Given the description of an element on the screen output the (x, y) to click on. 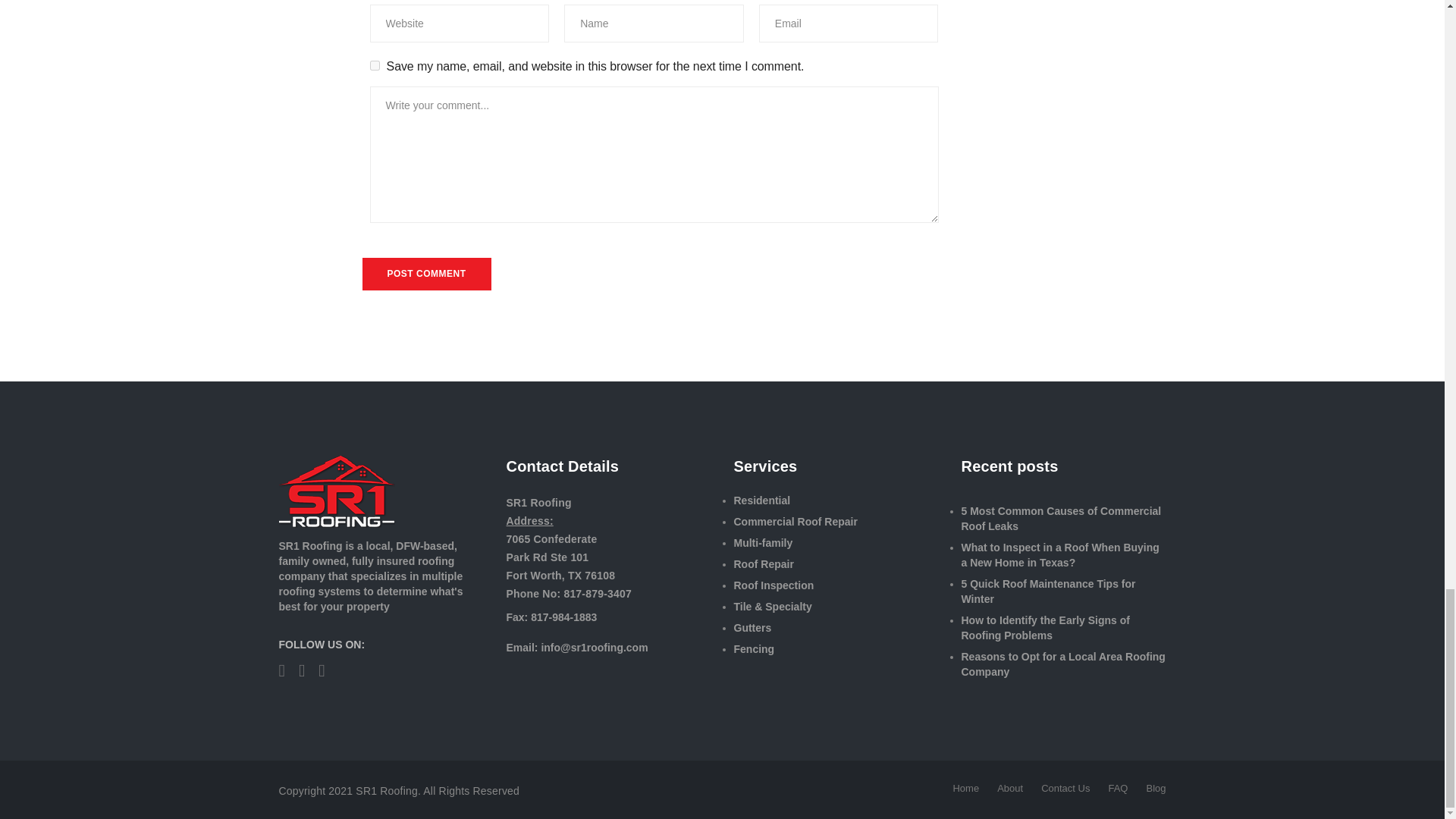
Post Comment (427, 273)
Post Comment (427, 273)
yes (374, 65)
